Given the description of an element on the screen output the (x, y) to click on. 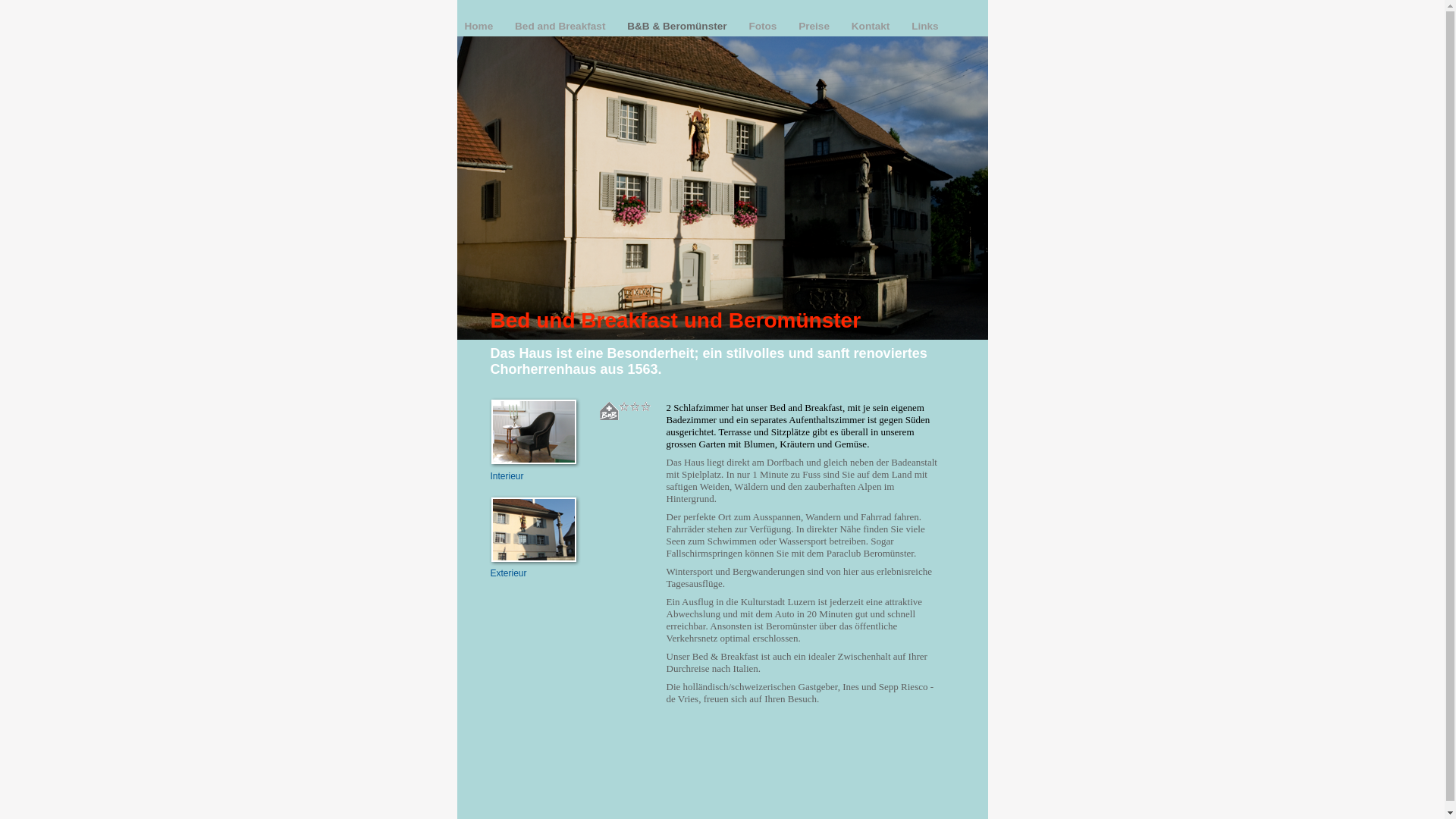
Home Element type: text (479, 25)
Kontakt Element type: text (871, 25)
Bed and Breakfast Element type: text (561, 25)
Interieur Element type: text (506, 475)
Exterieur Element type: text (507, 572)
Fotos Element type: text (763, 25)
Preise Element type: text (815, 25)
Links Element type: text (924, 25)
